Given the description of an element on the screen output the (x, y) to click on. 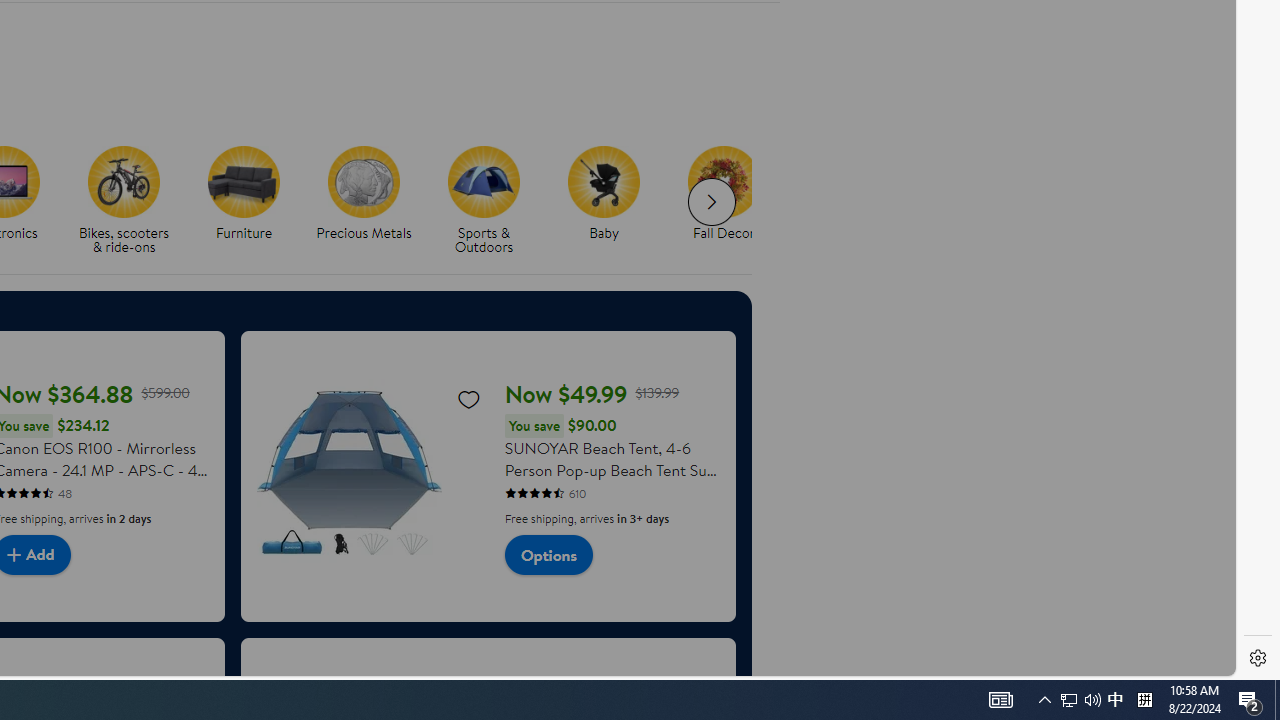
Sports & Outdoors Sports & Outdoors (484, 200)
Next slide for chipModuleWithImages list (712, 201)
Furniture Furniture (243, 194)
Fall Decor (732, 200)
Bikes, scooters & ride-ons (124, 181)
Baby (611, 200)
Baby Baby (603, 194)
